Given the description of an element on the screen output the (x, y) to click on. 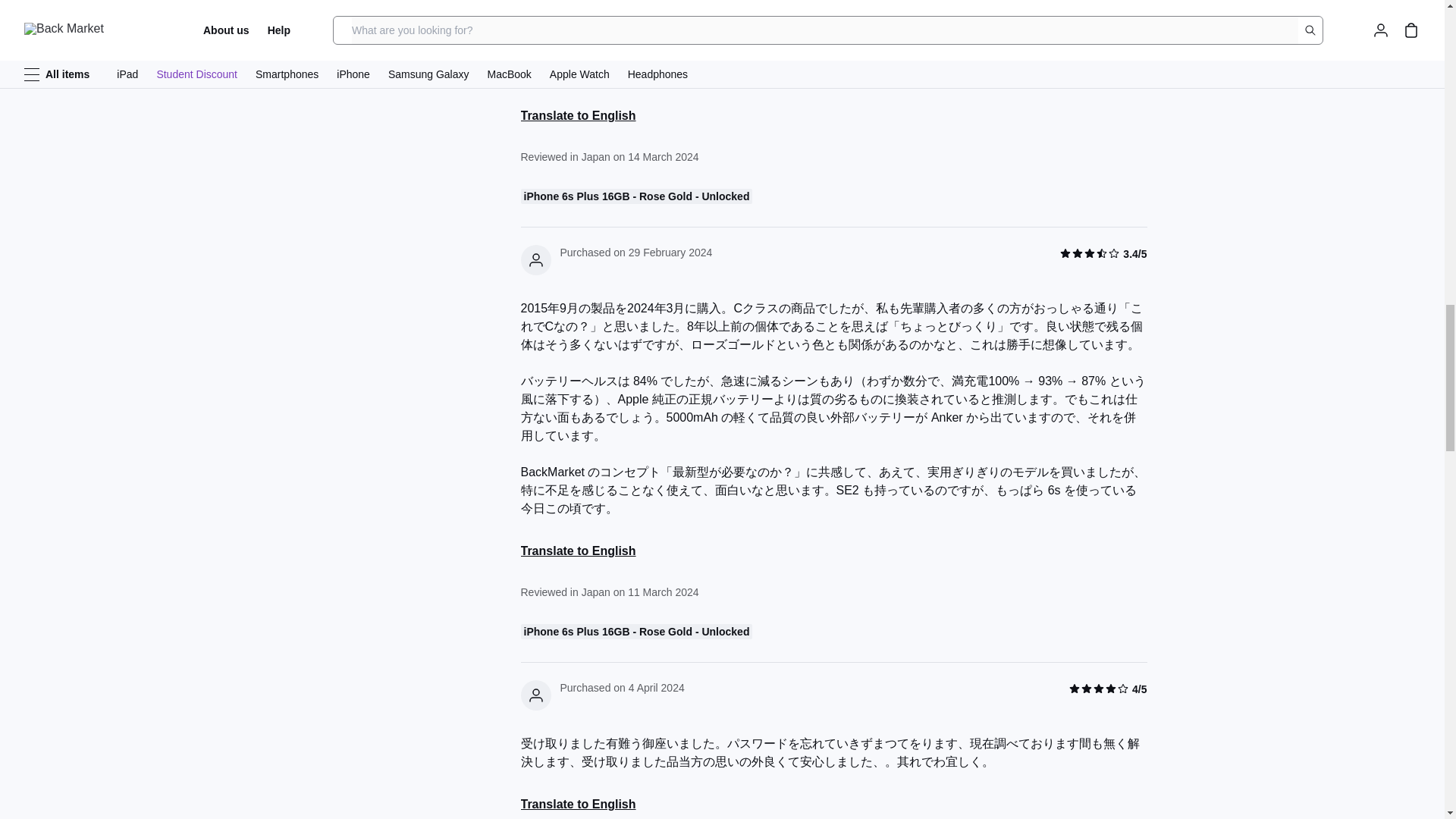
Translate to English (576, 551)
iPhone 6s Plus 16GB - Rose Gold - Unlocked (635, 631)
iPhone 6s Plus 16GB - Rose Gold - Unlocked (635, 196)
Translate to English (576, 804)
Translate to English (576, 116)
iPhone 6s Plus 16GB - Rose Gold - Unlocked (833, 199)
iPhone 6s Plus 16GB - Rose Gold - Unlocked (833, 634)
